Given the description of an element on the screen output the (x, y) to click on. 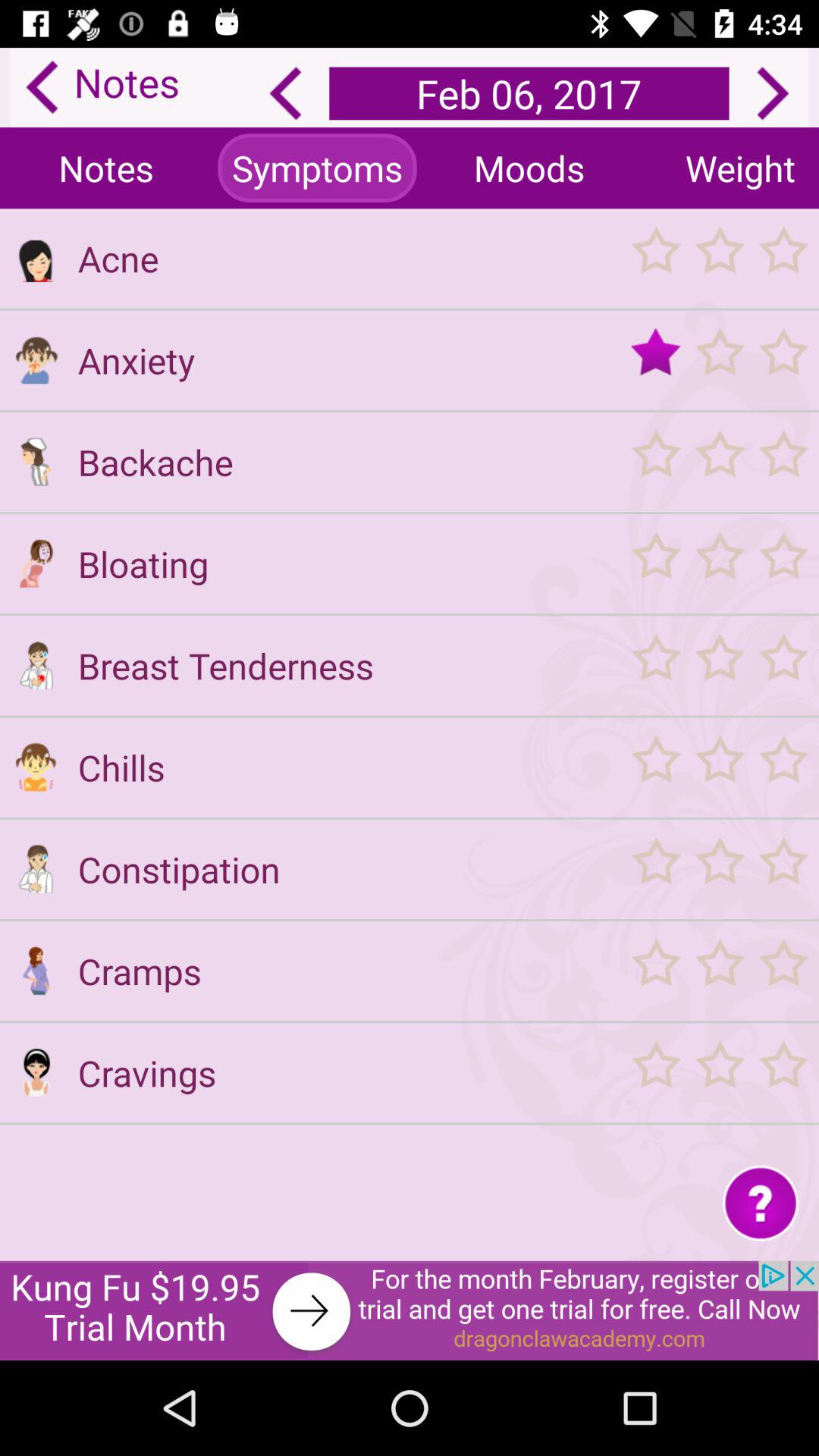
rate daily symptom (719, 461)
